Given the description of an element on the screen output the (x, y) to click on. 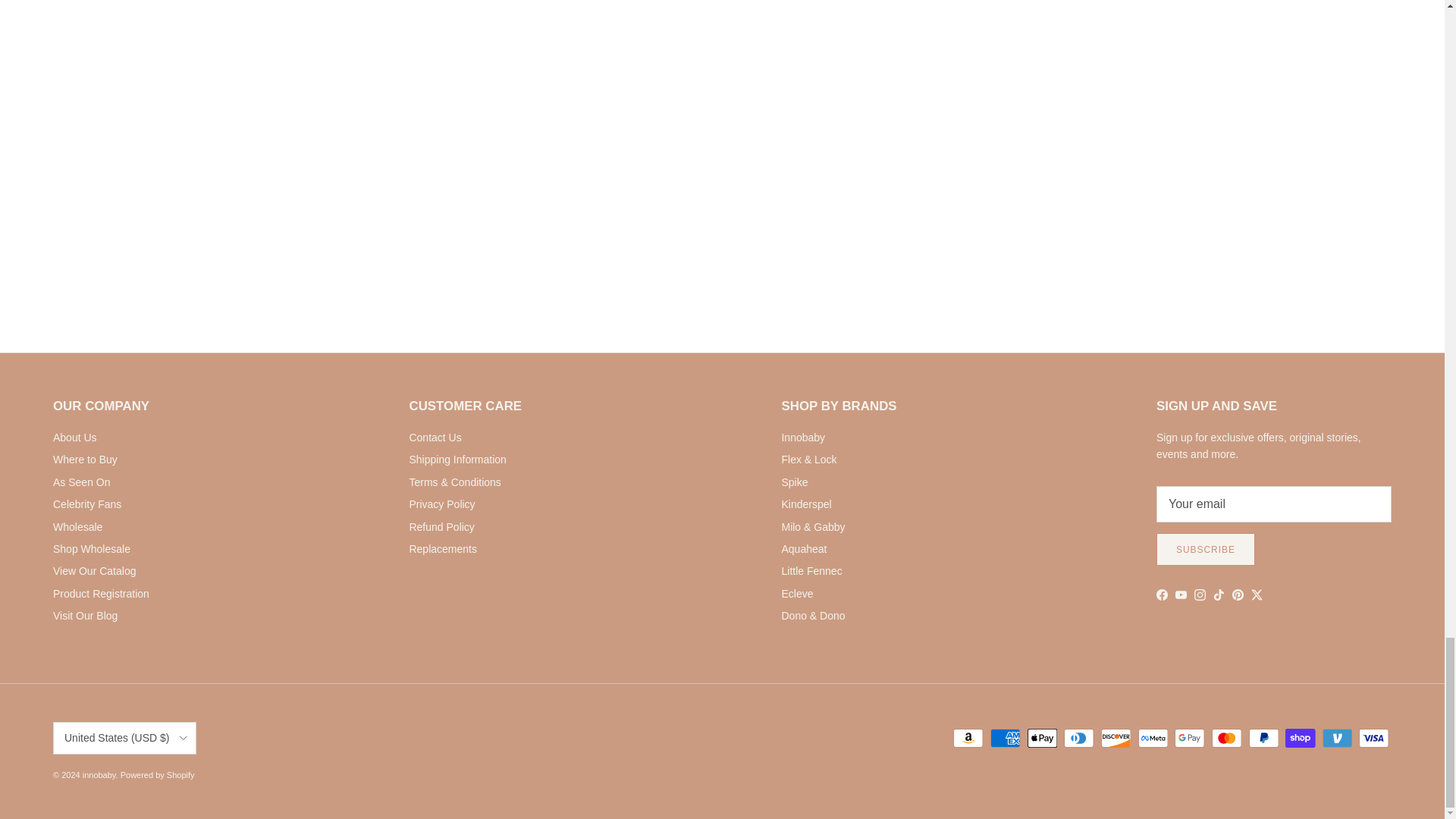
innobaby on Twitter (1256, 594)
innobaby on Pinterest (1237, 594)
innobaby on Instagram (1199, 594)
innobaby on YouTube (1180, 594)
innobaby on Facebook (1161, 594)
innobaby on TikTok (1218, 594)
